Given the description of an element on the screen output the (x, y) to click on. 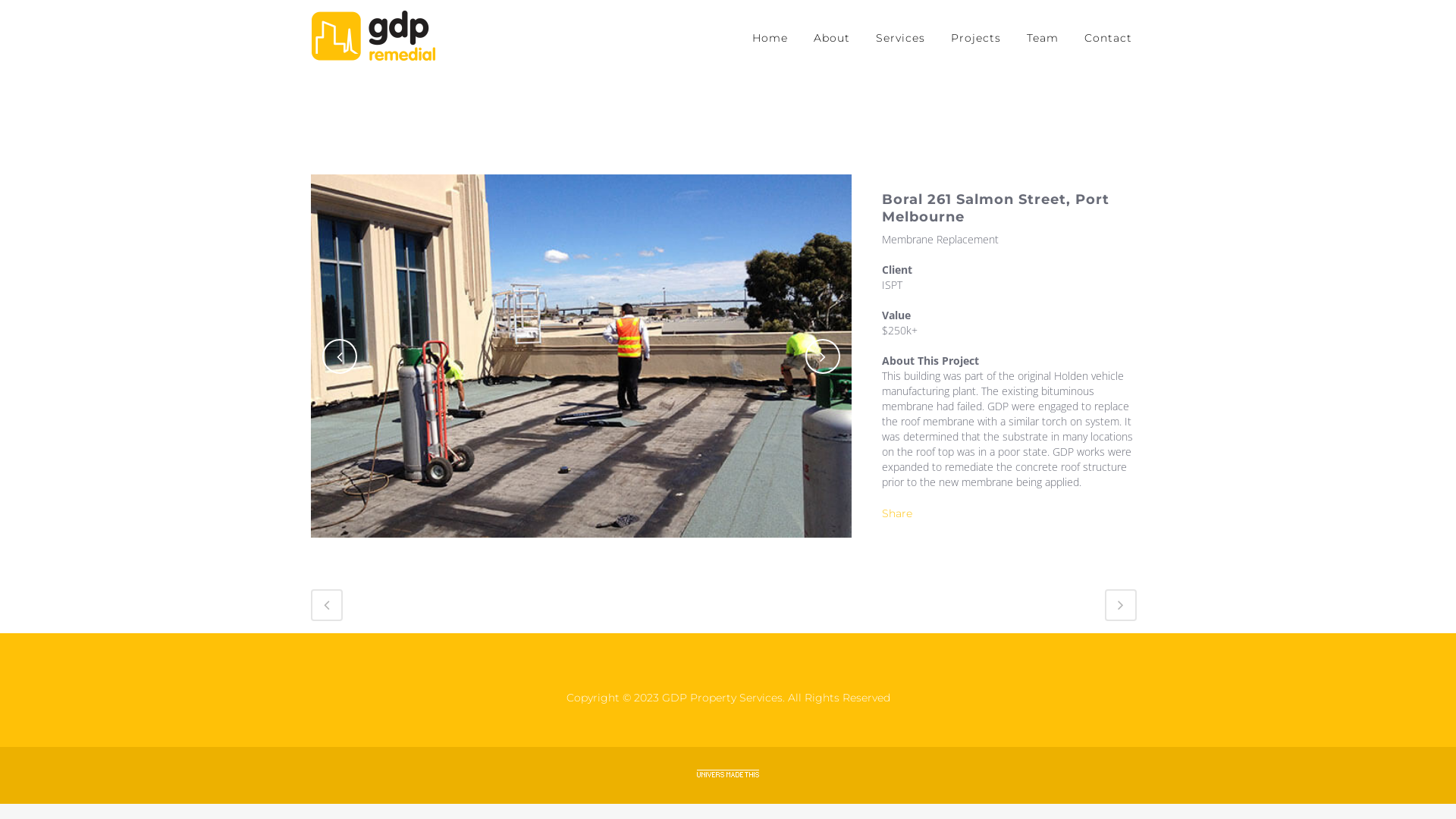
About Element type: text (831, 37)
Services Element type: text (900, 37)
Contact Element type: text (1108, 37)
Team Element type: text (1042, 37)
Share Element type: text (896, 513)
Univers Made This Element type: text (727, 773)
Home Element type: text (769, 37)
Projects Element type: text (975, 37)
